Given the description of an element on the screen output the (x, y) to click on. 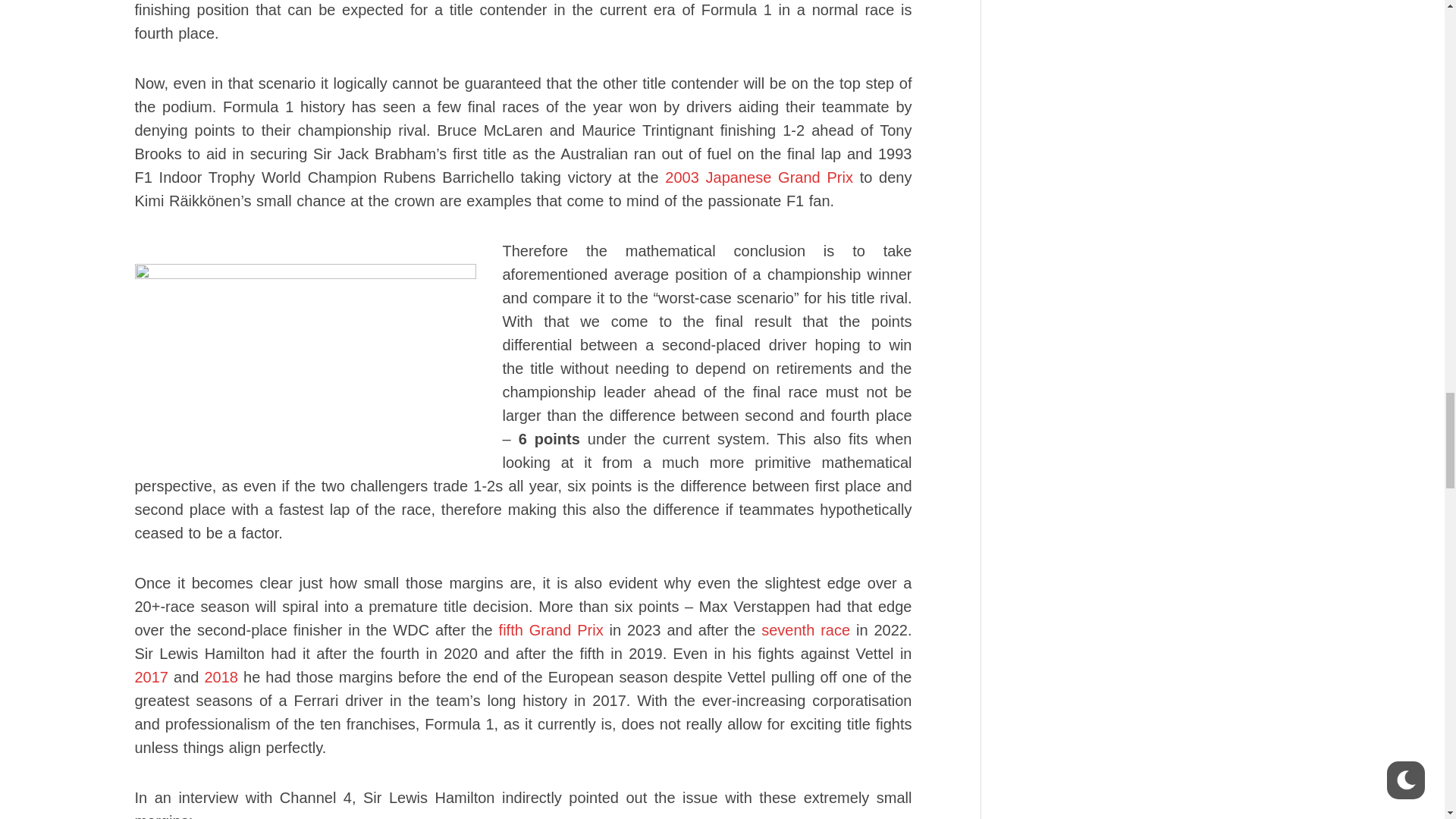
2017 (151, 677)
seventh race (805, 629)
fifth Grand Prix (551, 629)
2003 Japanese Grand Prix (759, 176)
2018 (221, 677)
